Given the description of an element on the screen output the (x, y) to click on. 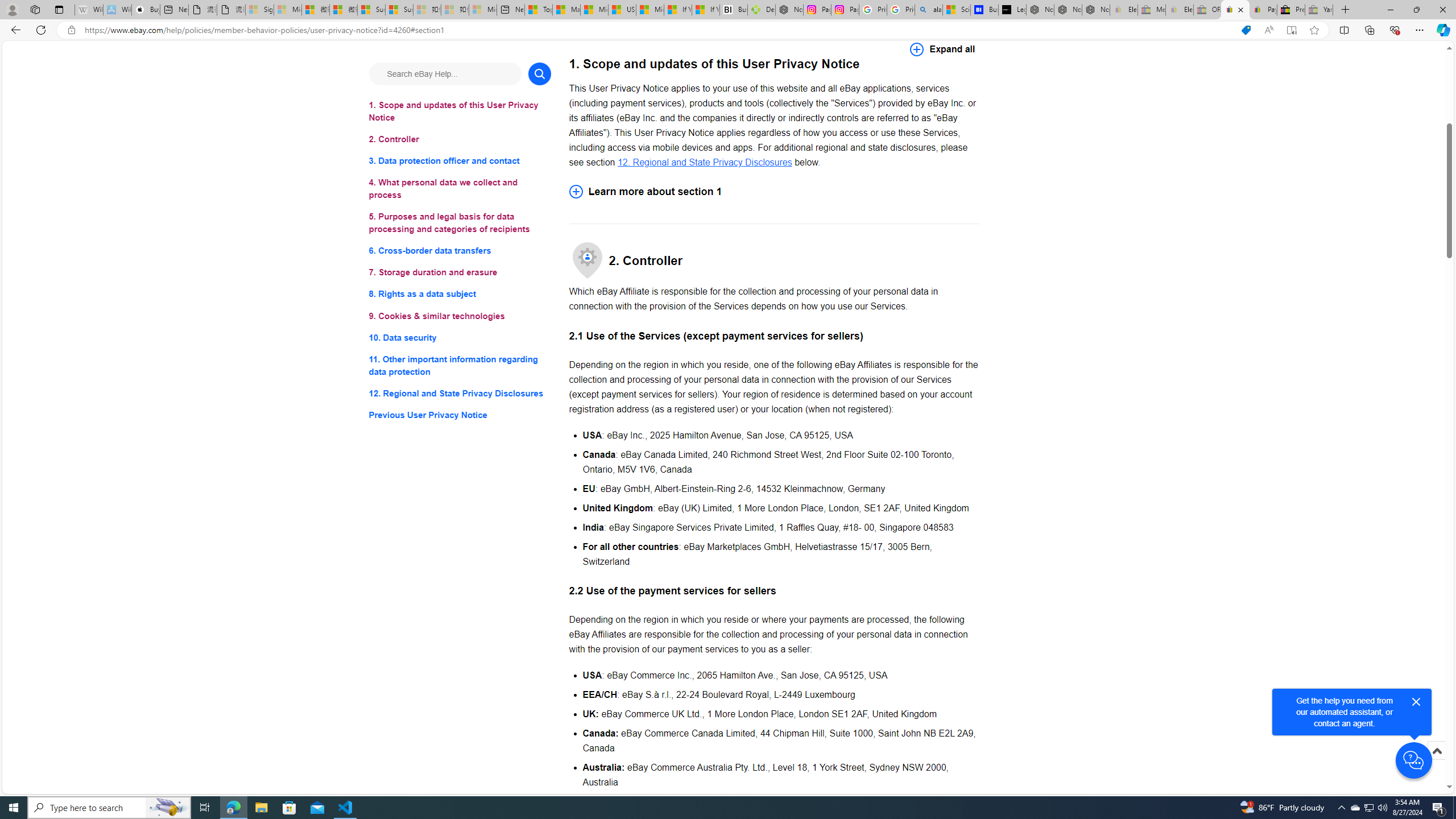
Scroll to top (1435, 762)
3. Data protection officer and contact (459, 160)
6. Cross-border data transfers (459, 250)
This site has coupons! Shopping in Microsoft Edge (1245, 29)
7. Storage duration and erasure (459, 272)
9. Cookies & similar technologies (459, 315)
